Given the description of an element on the screen output the (x, y) to click on. 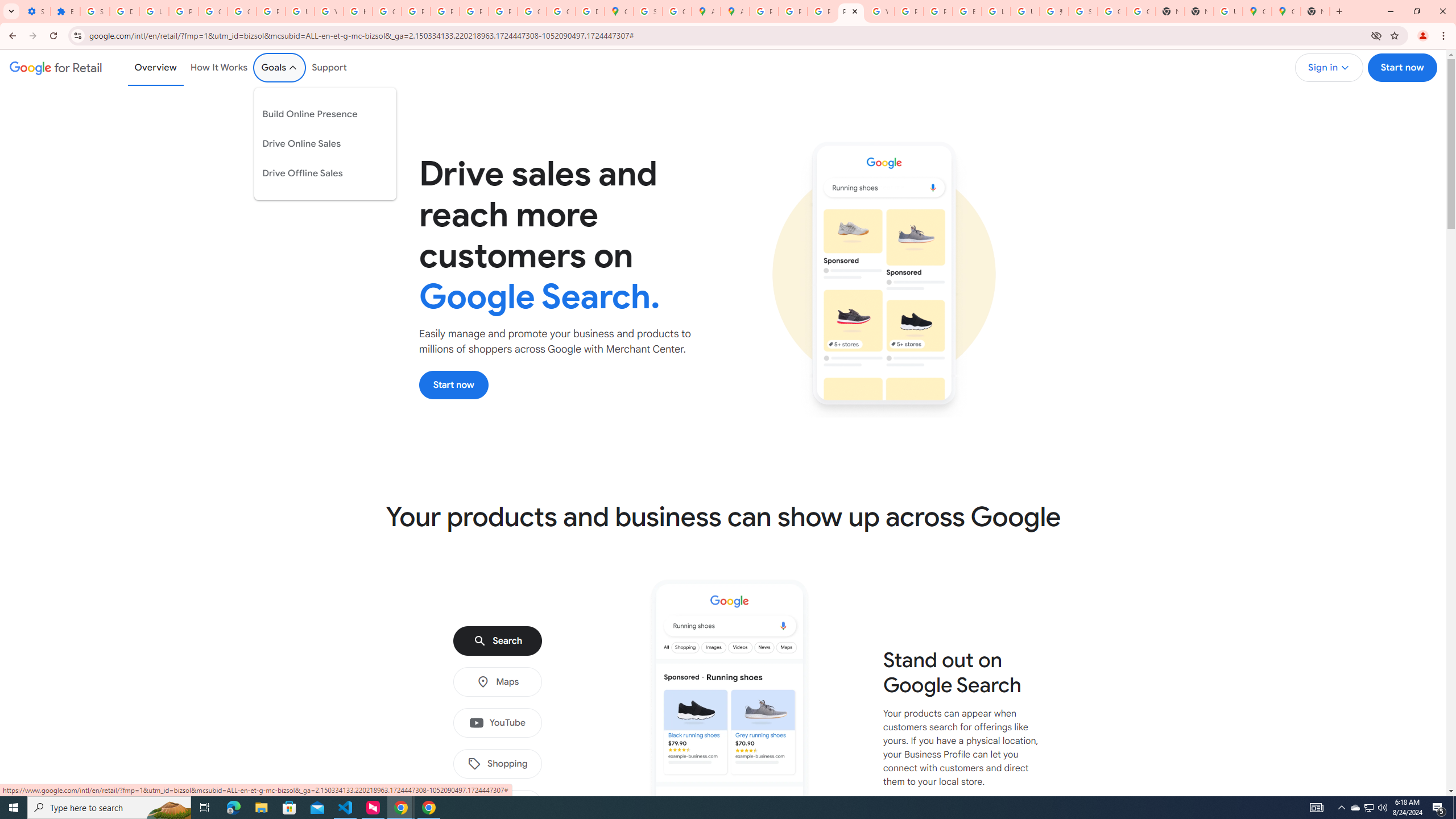
Delete photos & videos - Computer - Google Photos Help (124, 11)
Privacy Help Center - Policies Help (415, 11)
Start now (454, 384)
Support (328, 67)
Use Google Maps in Space - Google Maps Help (1227, 11)
Learn how to find your photos - Google Photos Help (153, 11)
